Given the description of an element on the screen output the (x, y) to click on. 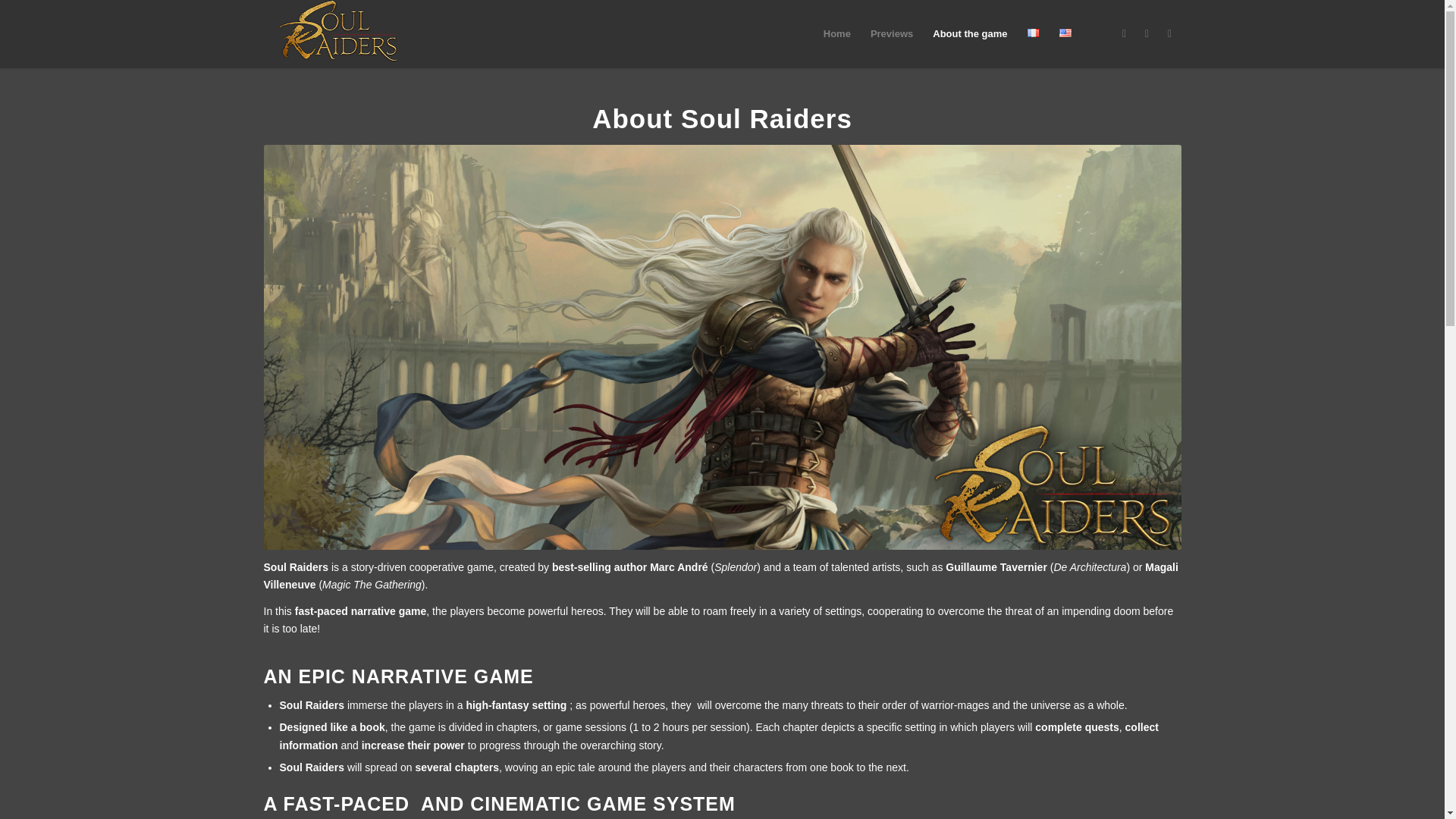
About the game (969, 33)
Previews (891, 33)
Instagram (1169, 33)
Twitter (1124, 33)
Facebook (1146, 33)
